Given the description of an element on the screen output the (x, y) to click on. 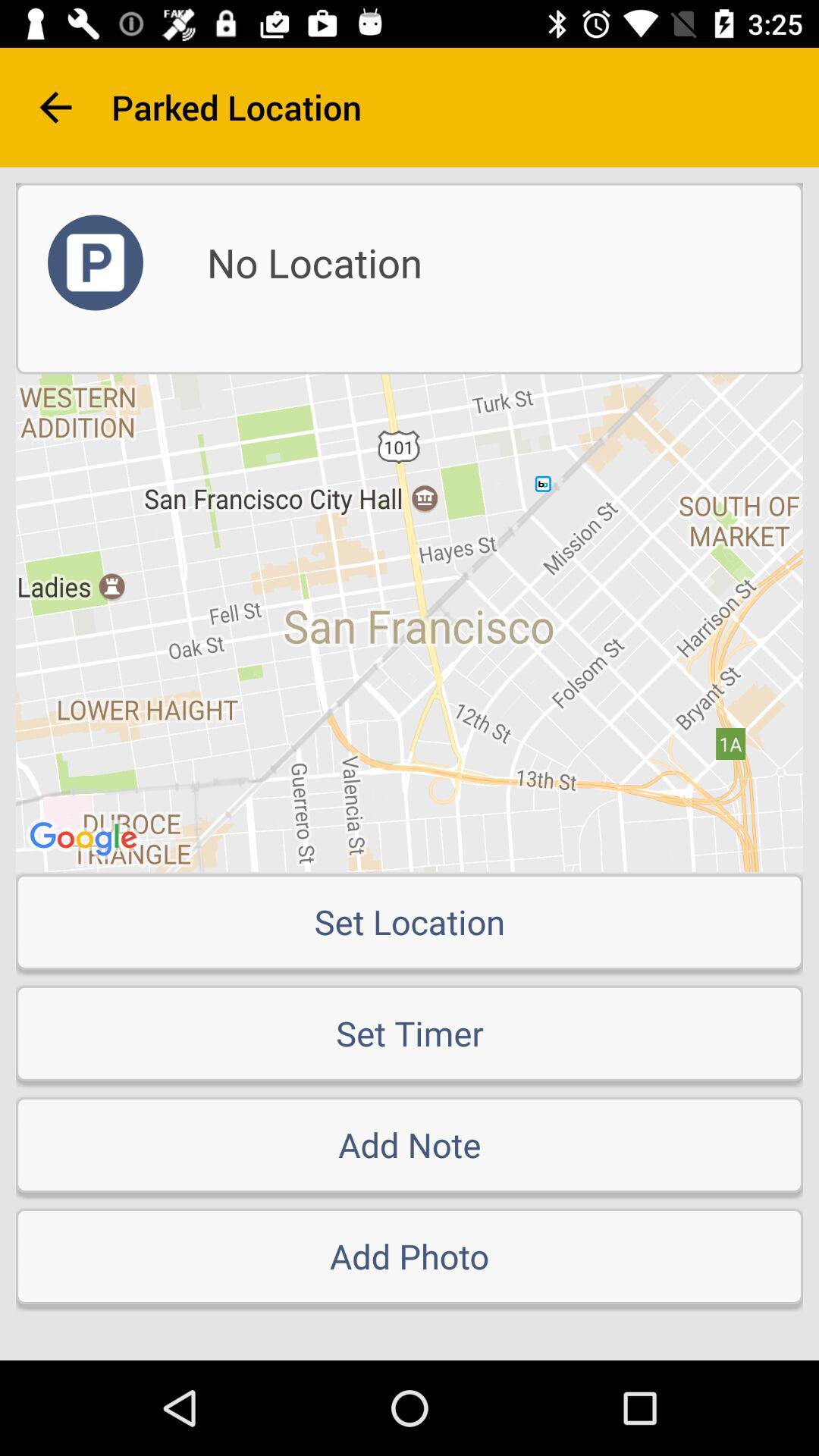
jump to add note (409, 1144)
